Given the description of an element on the screen output the (x, y) to click on. 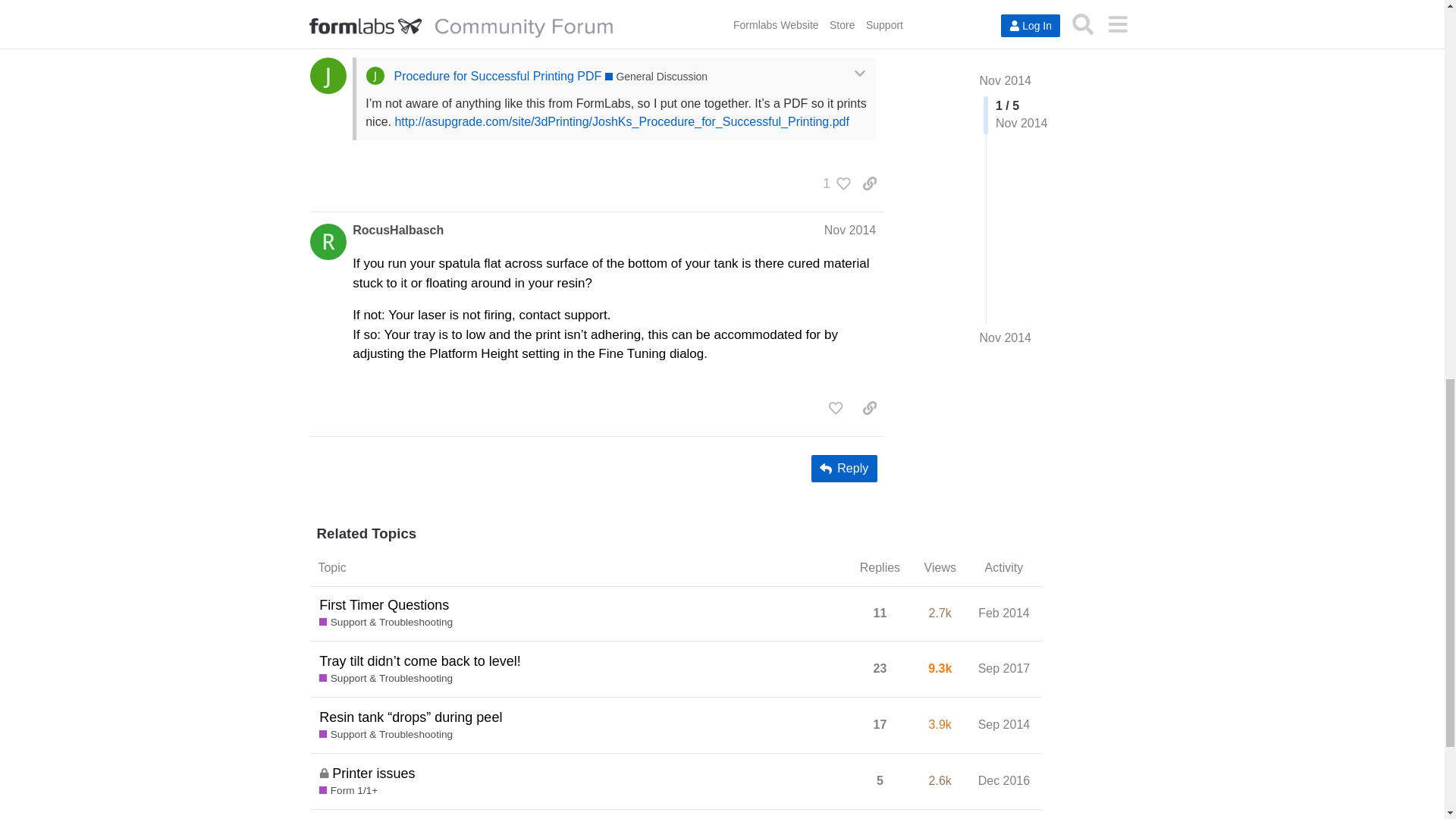
Procedure for Successful Printing PDF (497, 75)
General Discussion (656, 76)
1 (832, 183)
